Given the description of an element on the screen output the (x, y) to click on. 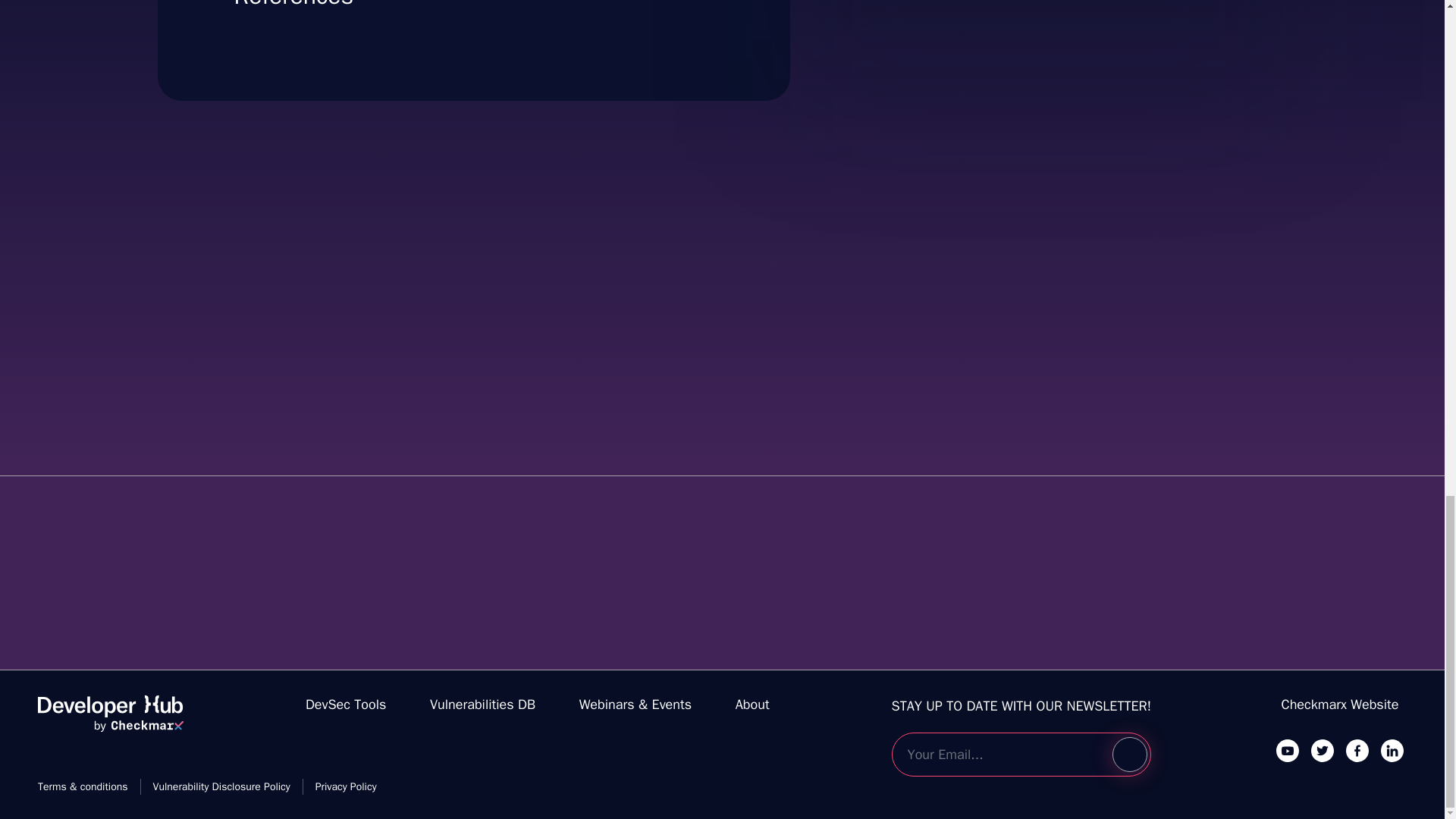
Follow us on Facebook (1356, 750)
Vulnerabilities DB (482, 704)
Submit form (1129, 754)
Follow us on Twitter (1322, 750)
Goto website home page (1037, 12)
DevSec Tools (110, 720)
Follow us on Linkedin (345, 704)
Checkmarx Website (1391, 750)
Vulnerability Disclosure Policy (1340, 704)
Follow us on Youtube (220, 786)
About (1287, 750)
Privacy Policy (752, 704)
